Given the description of an element on the screen output the (x, y) to click on. 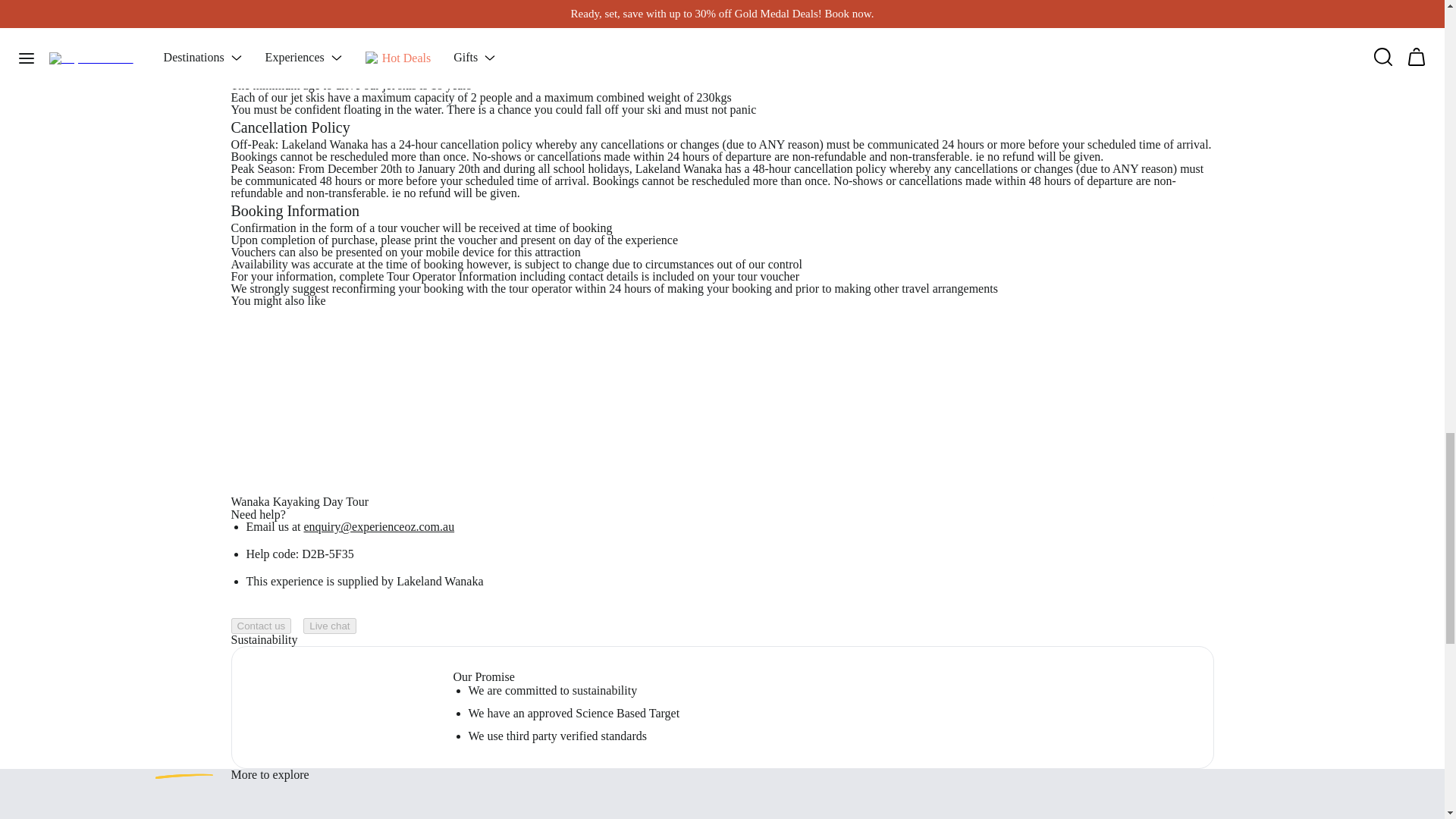
Live chat (328, 625)
Contact us (260, 625)
